Given the description of an element on the screen output the (x, y) to click on. 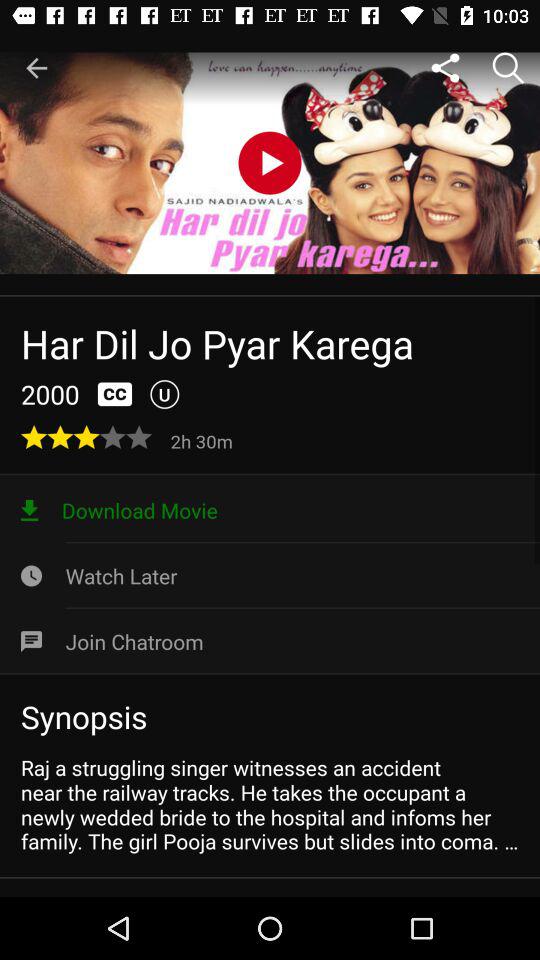
select icon below watch later icon (270, 641)
